Given the description of an element on the screen output the (x, y) to click on. 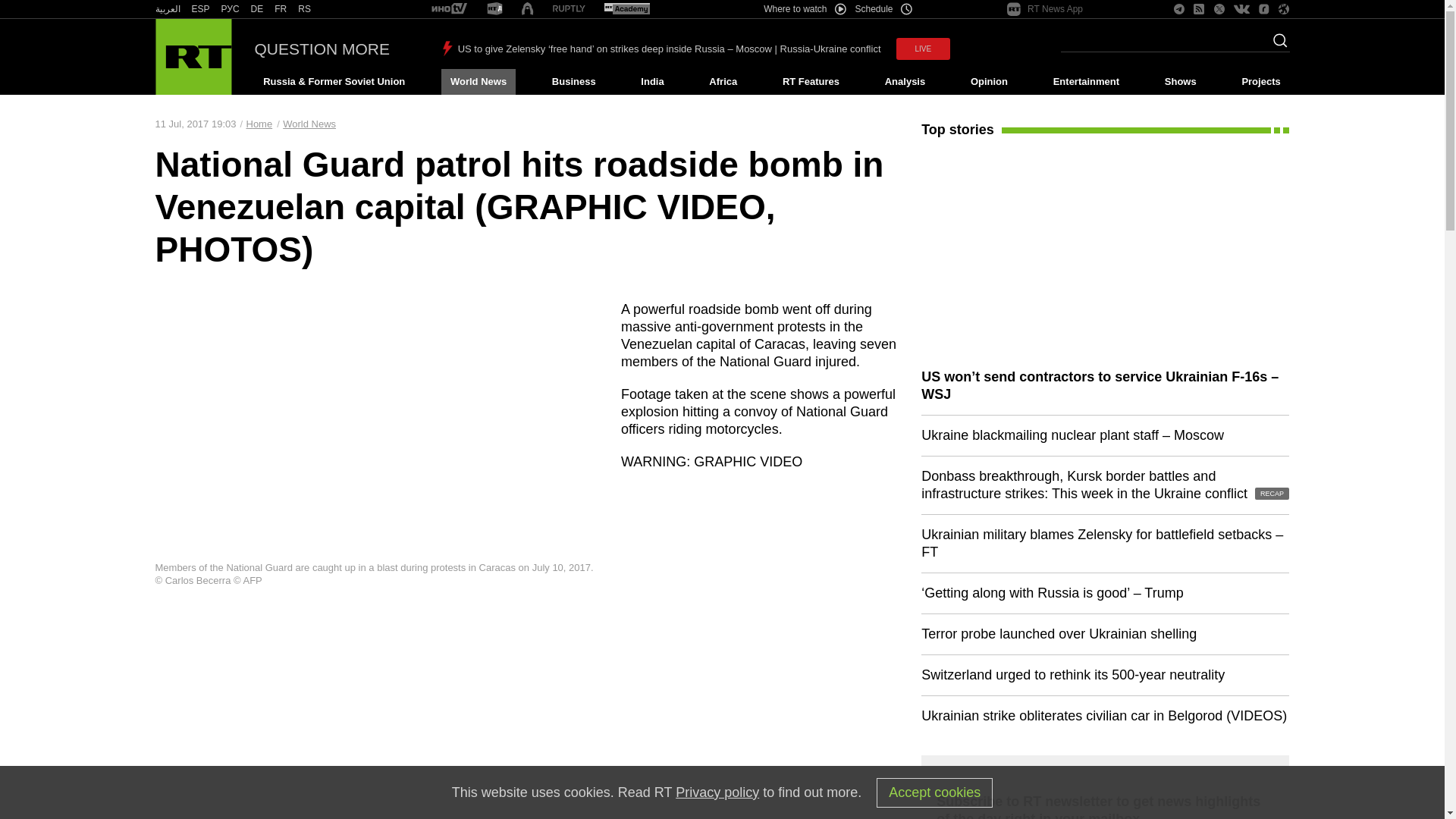
Business (573, 81)
LIVE (923, 48)
Opinion (988, 81)
Where to watch (803, 9)
Search (1276, 44)
India (651, 81)
Africa (722, 81)
World News (478, 81)
QUESTION MORE (322, 48)
DE (256, 9)
